Given the description of an element on the screen output the (x, y) to click on. 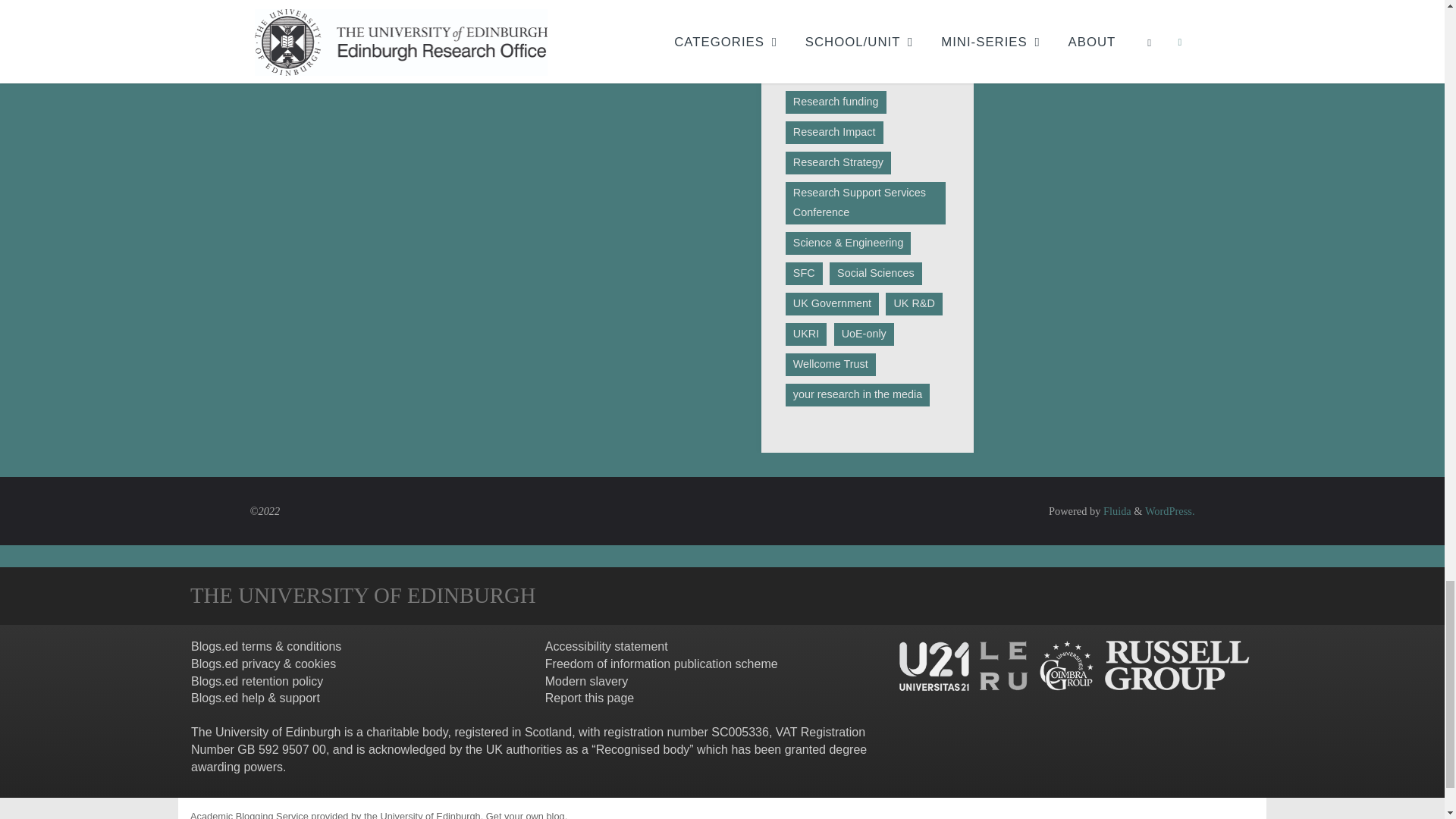
Semantic Personal Publishing Platform (1169, 510)
Fluida WordPress Theme by Cryout Creations (1115, 510)
